Given the description of an element on the screen output the (x, y) to click on. 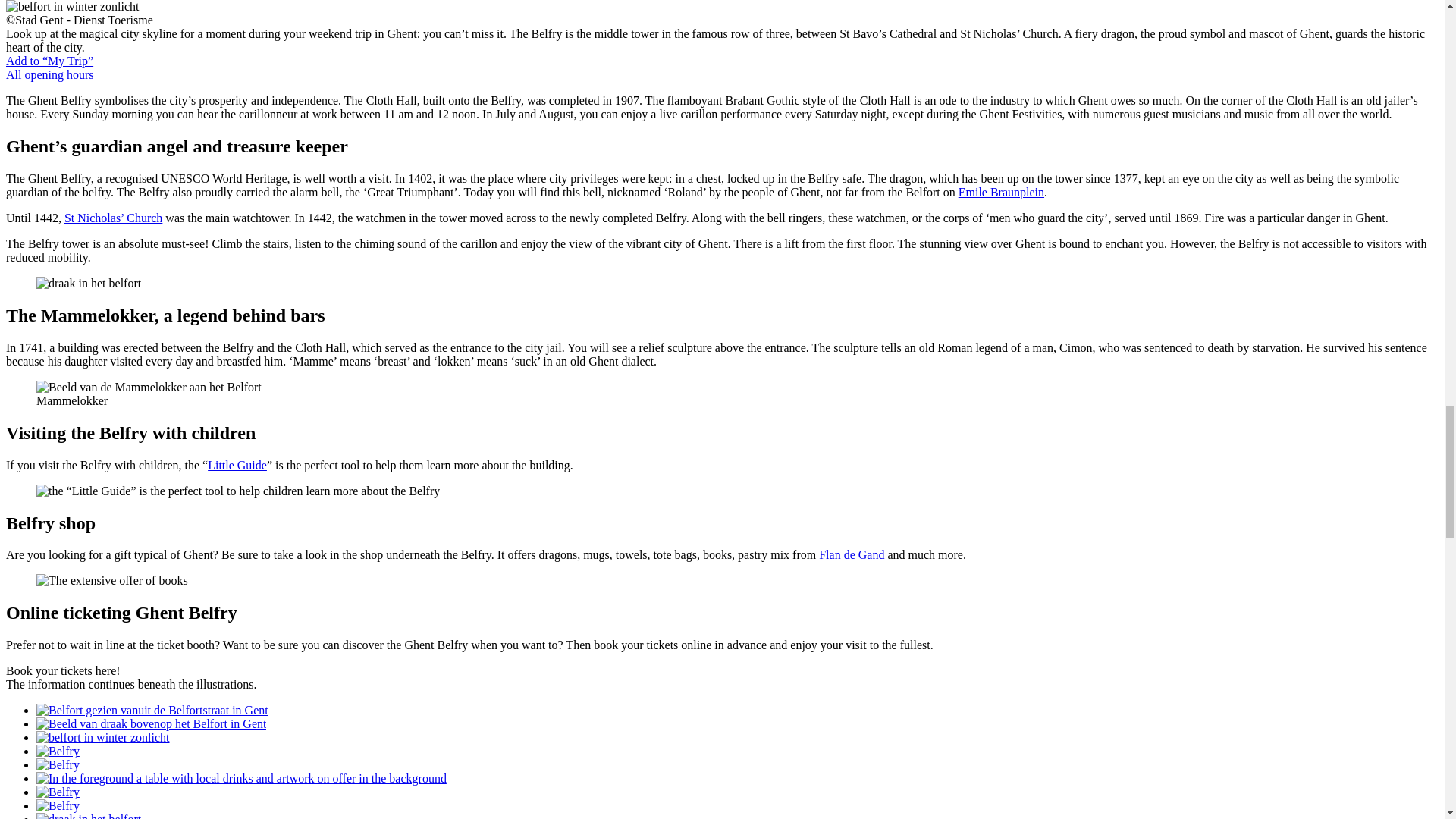
City pavilion (1000, 192)
Little Guide - Belfry (237, 464)
